Given the description of an element on the screen output the (x, y) to click on. 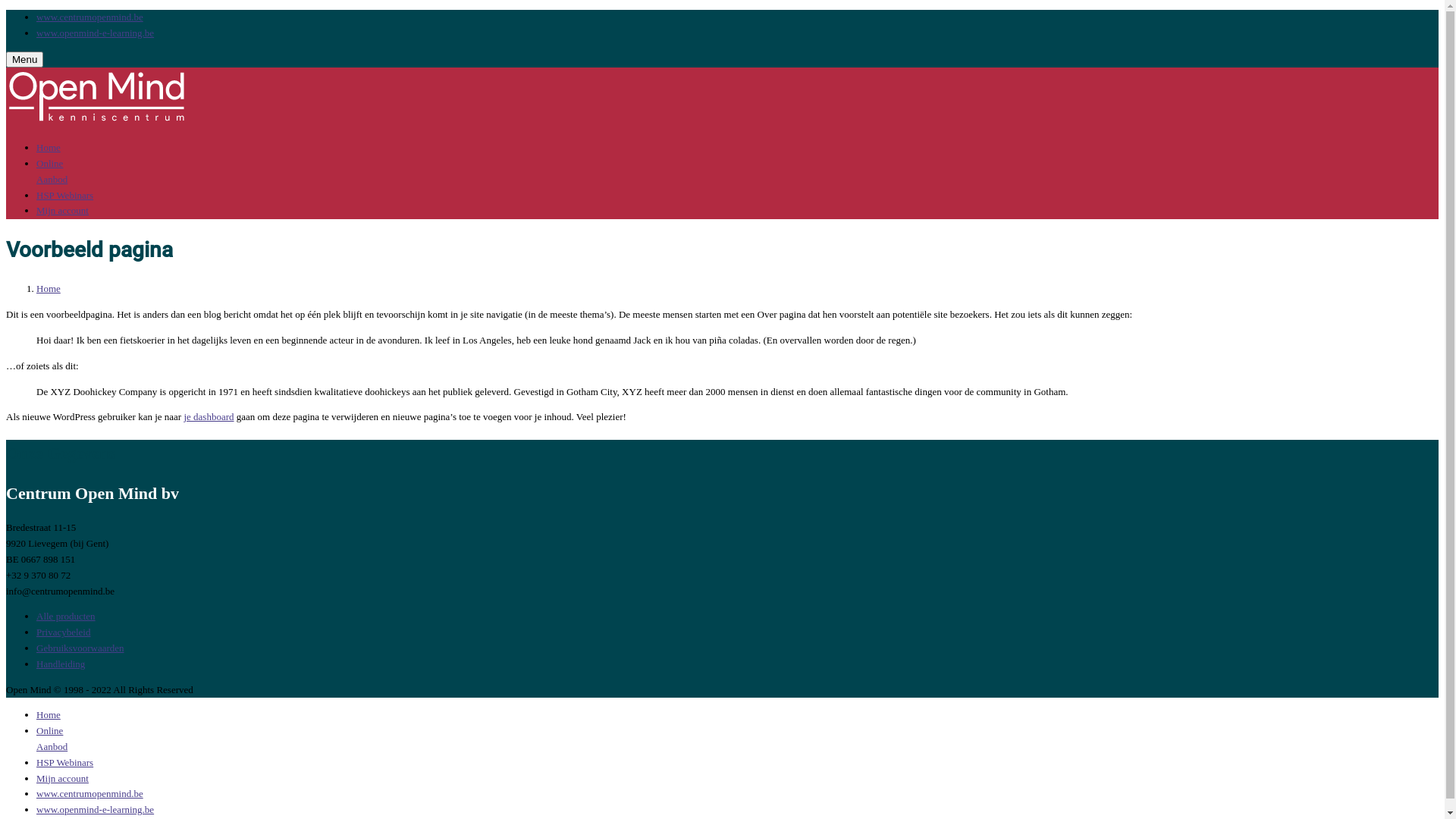
Handleiding Element type: text (60, 663)
Online
Aanbod Element type: text (51, 171)
je dashboard Element type: text (208, 416)
www.centrumopenmind.be Element type: text (89, 793)
Online
Aanbod Element type: text (51, 738)
Alle producten Element type: text (65, 615)
Home Element type: text (48, 147)
Gebruiksvoorwaarden Element type: text (80, 647)
Menu Element type: text (24, 59)
HSP Webinars Element type: text (64, 194)
Home Element type: text (48, 288)
Voorbeeld pagina | Online leren Coachen Element type: hover (100, 121)
Mijn account Element type: text (62, 210)
www.openmind-e-learning.be Element type: text (94, 32)
Mijn account Element type: text (62, 778)
www.openmind-e-learning.be Element type: text (94, 809)
HSP Webinars Element type: text (64, 762)
www.centrumopenmind.be Element type: text (89, 16)
Privacybeleid Element type: text (63, 631)
Home Element type: text (48, 714)
